Given the description of an element on the screen output the (x, y) to click on. 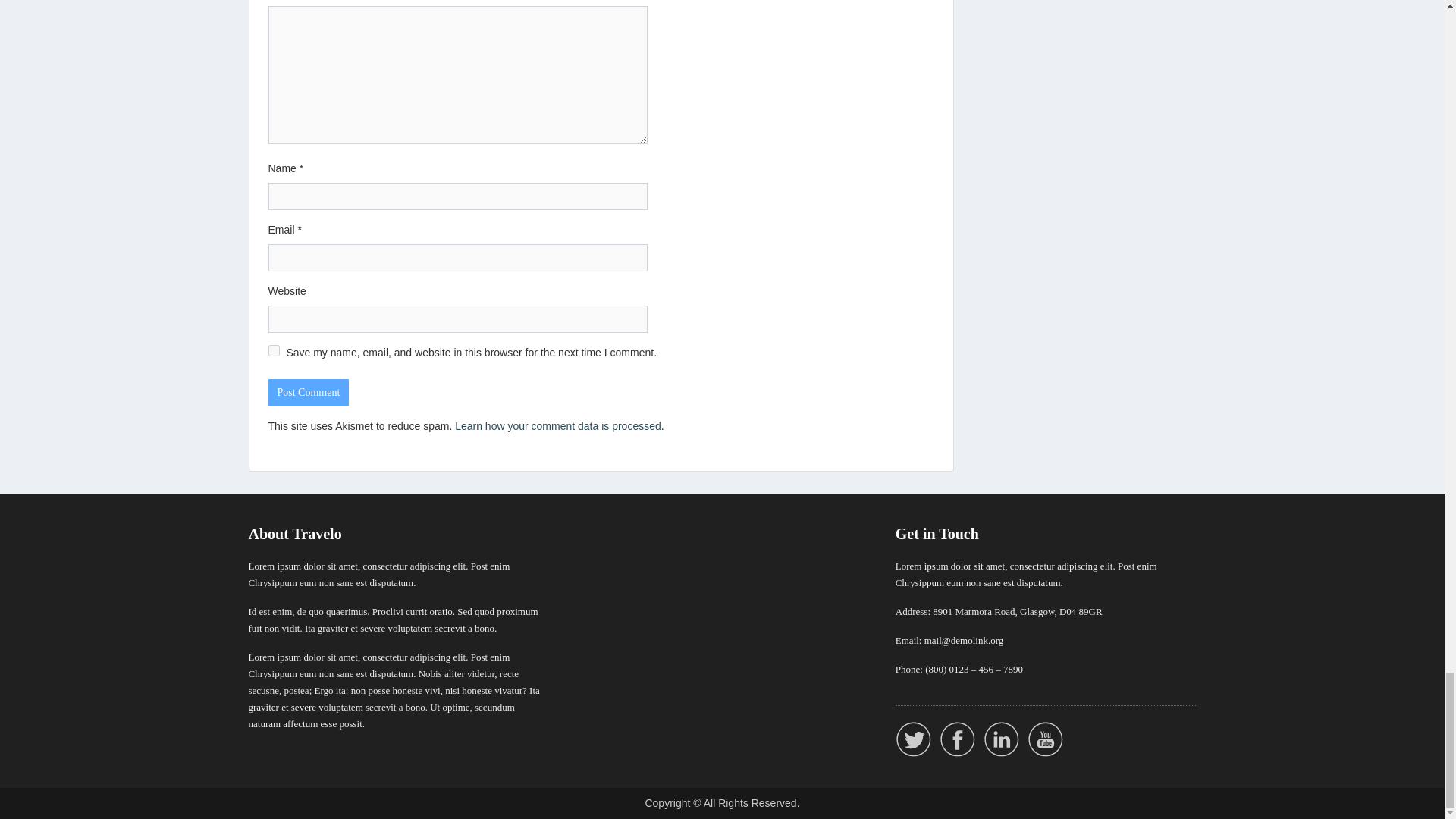
yes (273, 350)
Learn how your comment data is processed (557, 426)
Post Comment (308, 392)
Post Comment (308, 392)
